Given the description of an element on the screen output the (x, y) to click on. 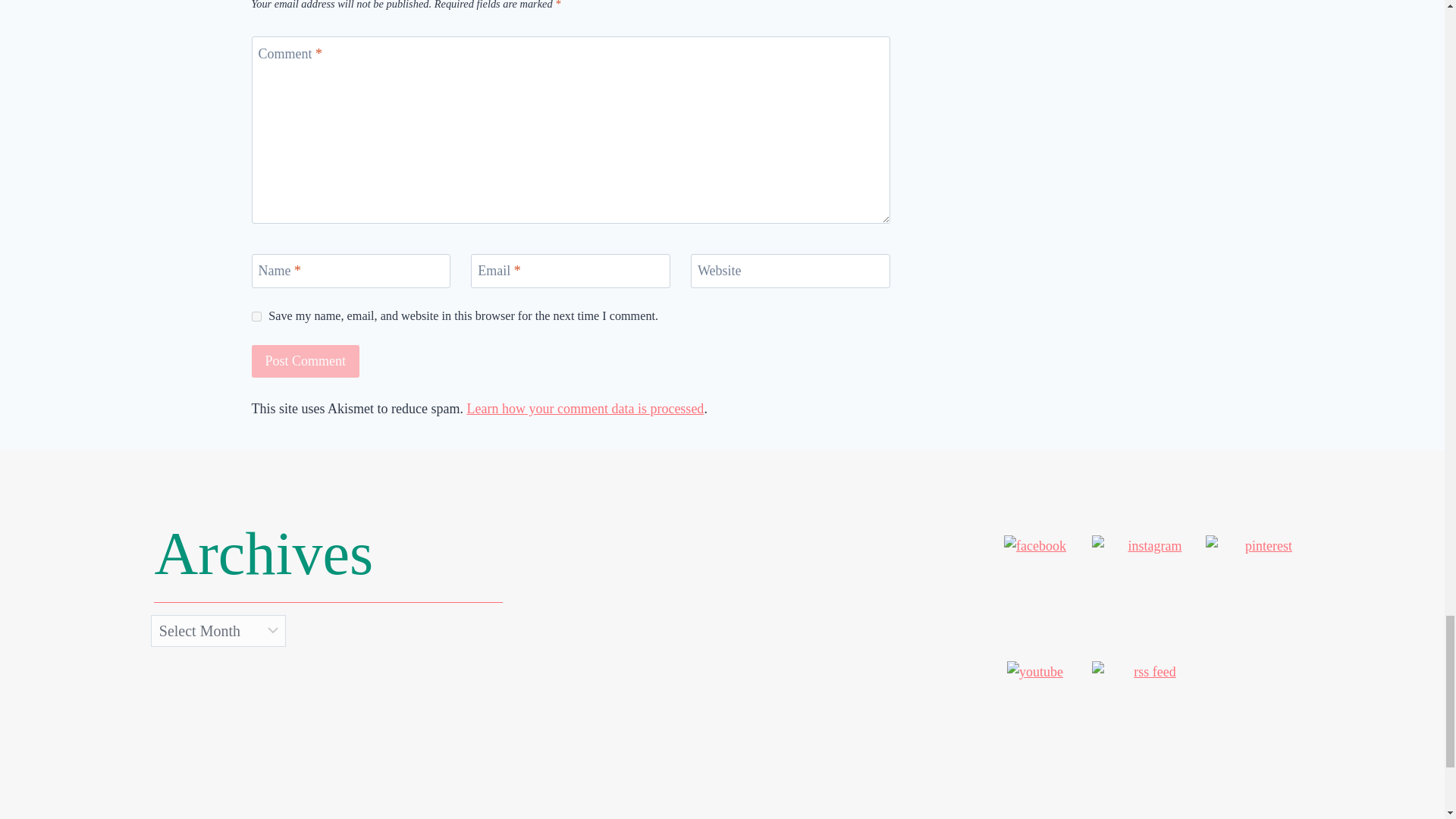
Post Comment (305, 360)
yes (256, 316)
